Given the description of an element on the screen output the (x, y) to click on. 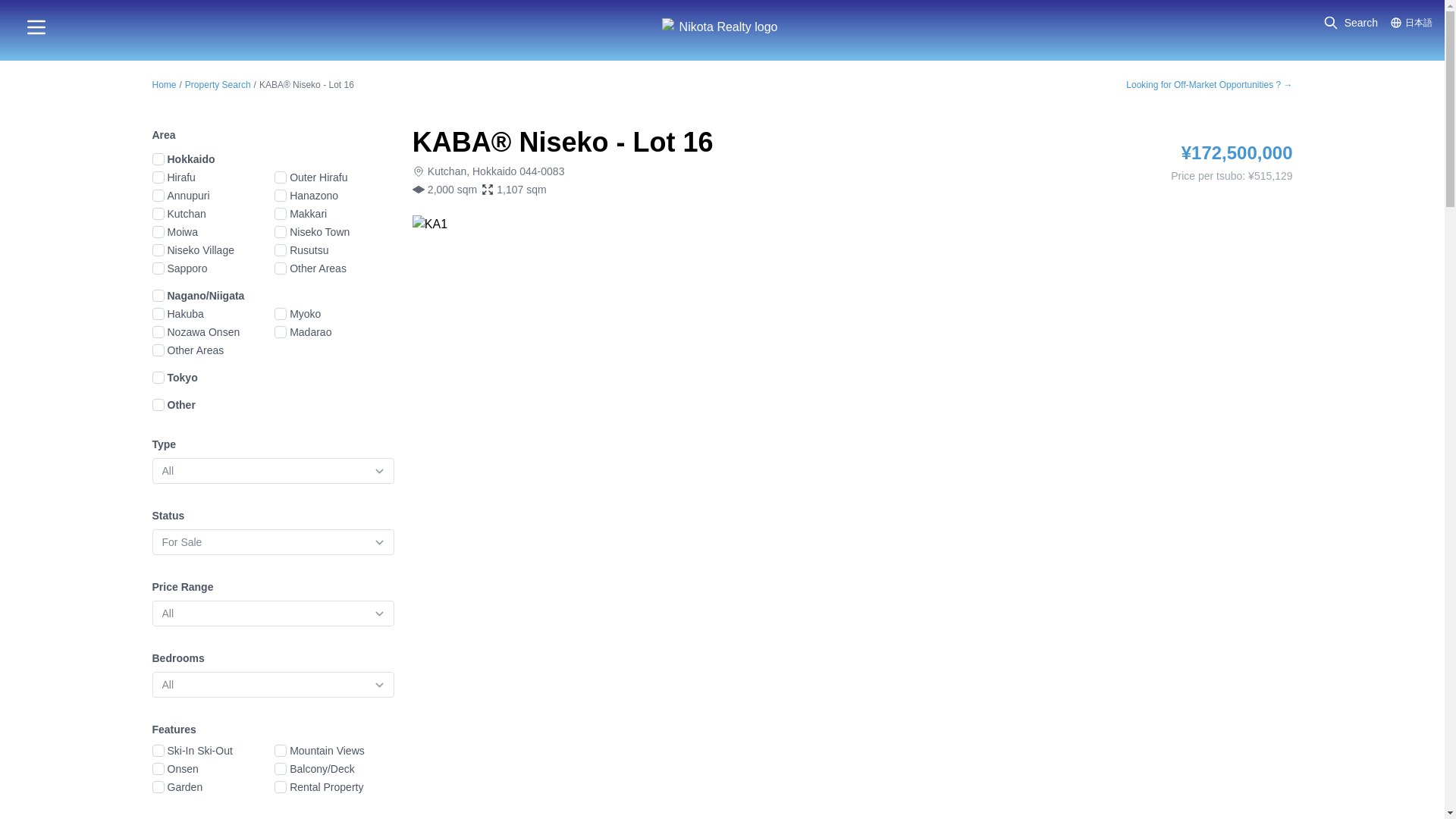
hirafu (157, 177)
hokkaido (157, 159)
hakuba (157, 313)
Home (163, 84)
other-hokkaido-areas (280, 268)
kutchan (157, 214)
madarao (280, 331)
niseko-village (157, 250)
moiwa (157, 232)
makkari (280, 214)
myoko (280, 313)
nozawa-onsen (157, 331)
sapporo (157, 268)
nagano (157, 295)
other-nagano-areas (157, 349)
